Given the description of an element on the screen output the (x, y) to click on. 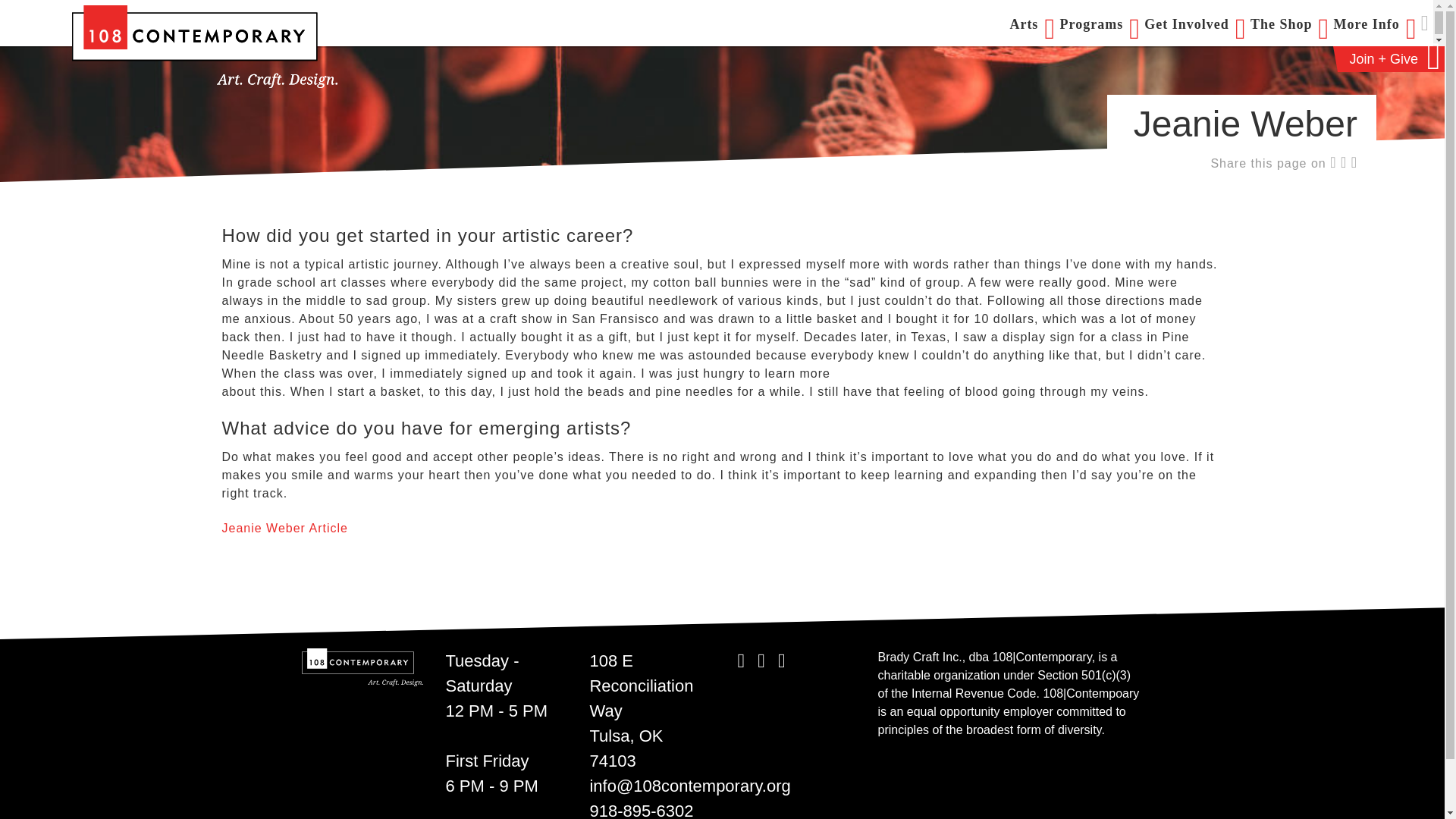
Arts (1031, 23)
Programs (1099, 23)
Get Involved (1195, 23)
Jeanie Weber Article (284, 527)
918-895-6302 (641, 810)
More Info (1374, 23)
The Shop (1289, 23)
